Given the description of an element on the screen output the (x, y) to click on. 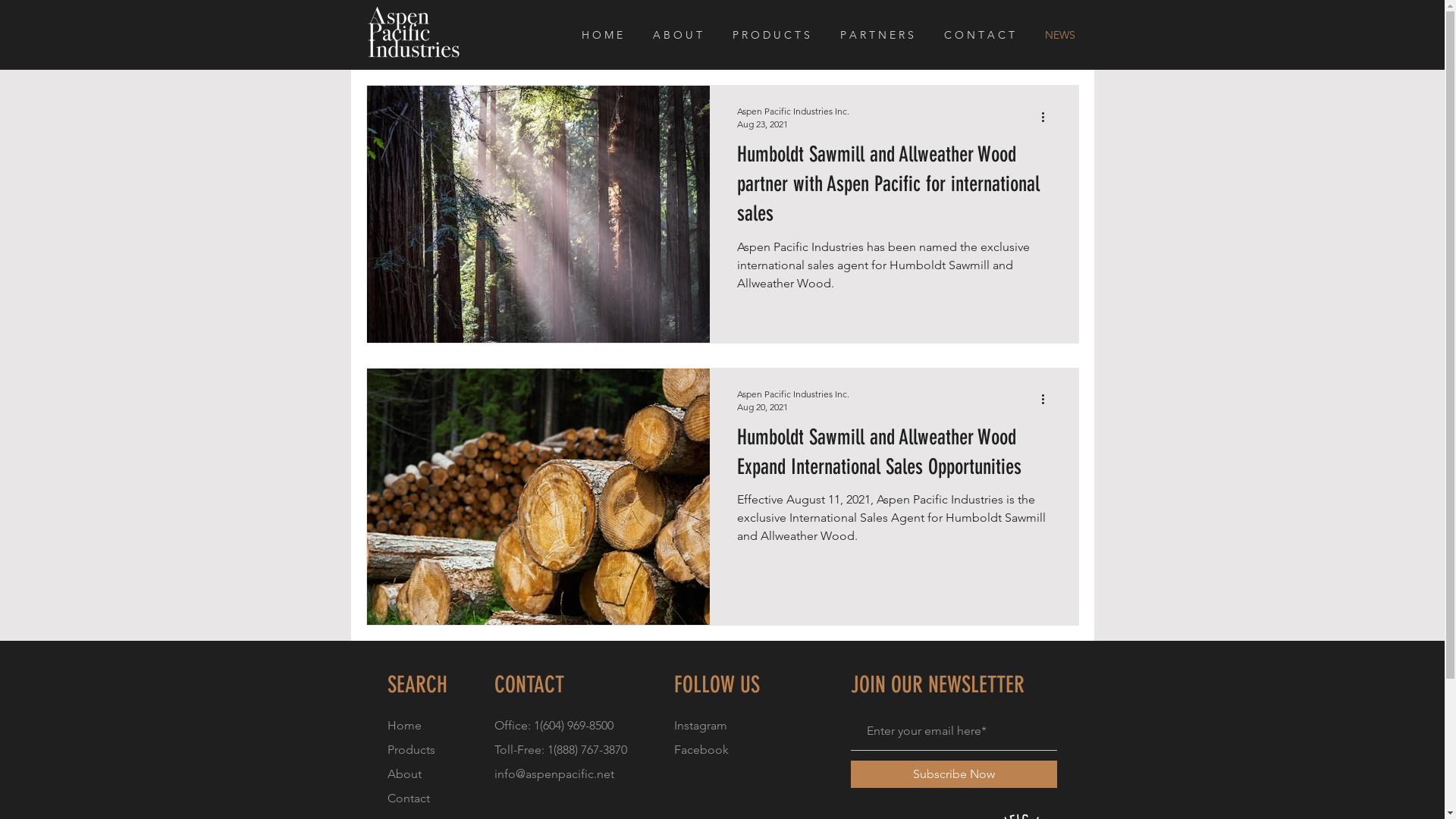
Contact Element type: text (407, 797)
C O N T A C T Element type: text (982, 34)
Products Element type: text (410, 749)
P A R T N E R S Element type: text (879, 34)
1(888) 767-3870 Element type: text (587, 749)
Home Element type: text (403, 725)
Facebook Element type: text (700, 749)
H O M E Element type: text (605, 34)
Instagram Element type: text (699, 725)
NEWS Element type: text (1062, 34)
About Element type: text (403, 773)
info@aspenpacific.net Element type: text (554, 773)
P R O D U C T S Element type: text (774, 34)
A B O U T Element type: text (681, 34)
Subscribe Now Element type: text (953, 773)
Office: 1(604) 969-8500 Element type: text (553, 725)
